Given the description of an element on the screen output the (x, y) to click on. 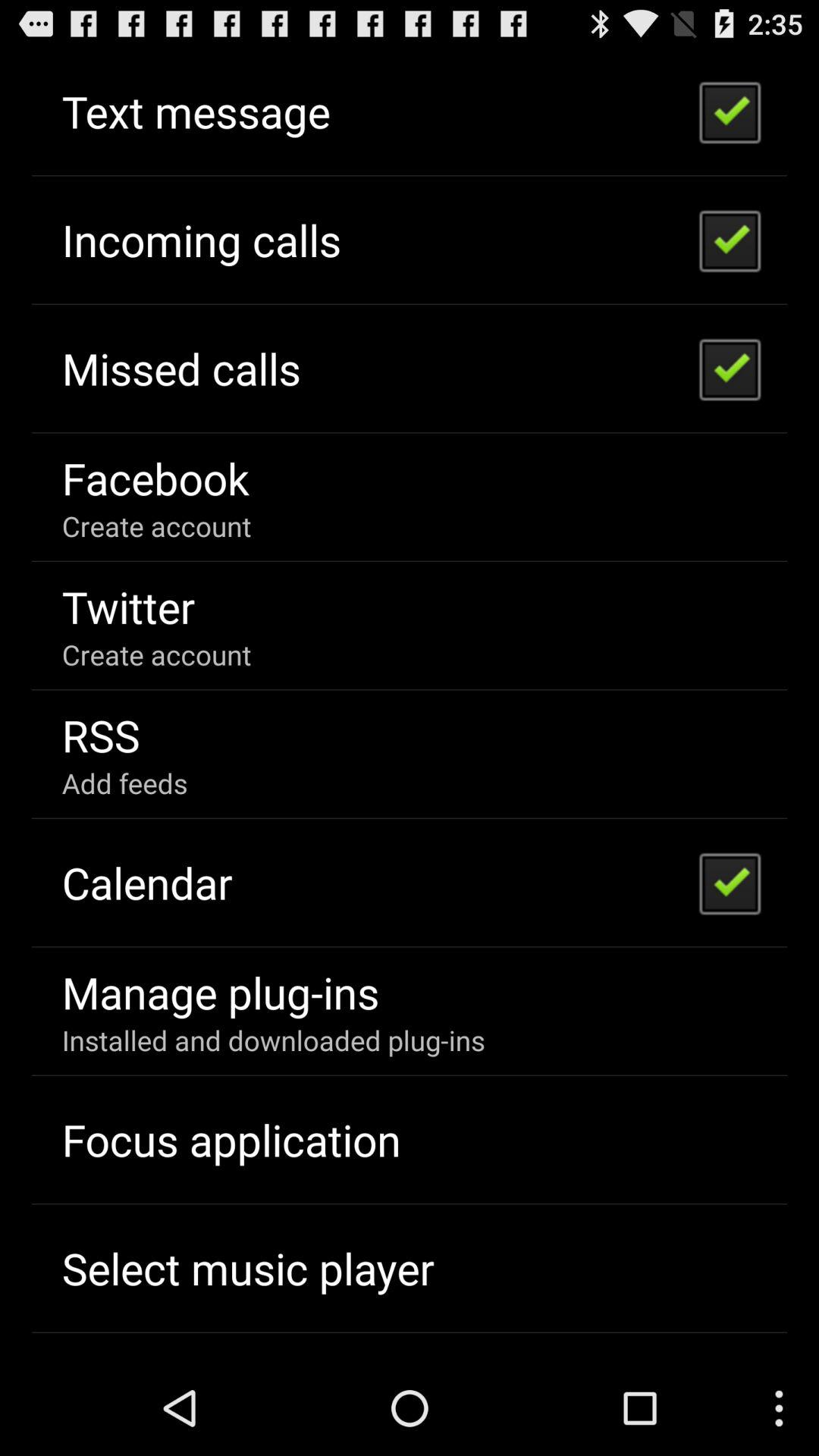
tap the calendar item (146, 882)
